Given the description of an element on the screen output the (x, y) to click on. 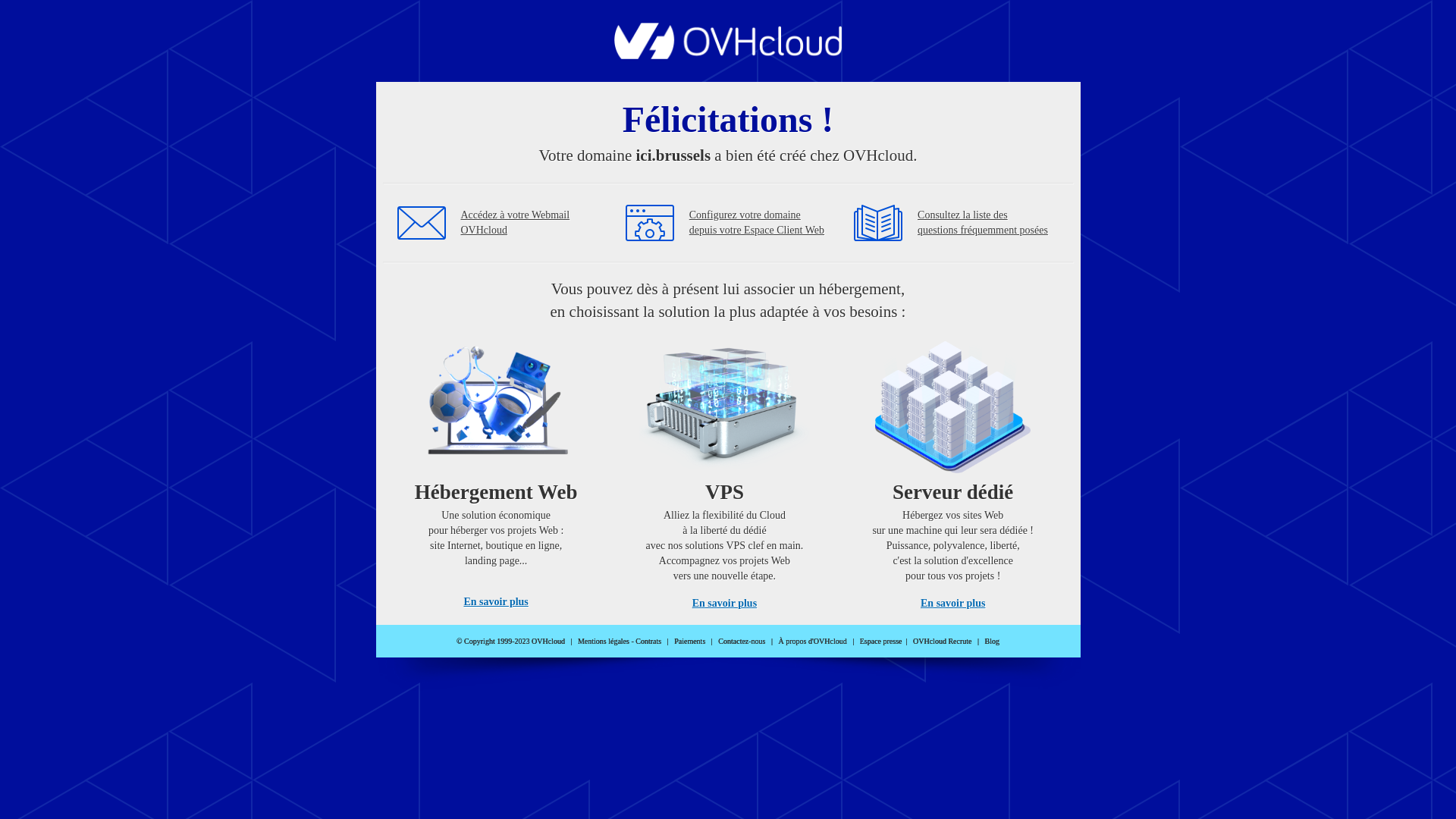
OVHcloud Recrute Element type: text (942, 641)
En savoir plus Element type: text (724, 602)
En savoir plus Element type: text (495, 601)
Paiements Element type: text (689, 641)
VPS Element type: hover (724, 469)
Espace presse Element type: text (880, 641)
OVHcloud Element type: hover (727, 54)
En savoir plus Element type: text (952, 602)
Blog Element type: text (992, 641)
Configurez votre domaine
depuis votre Espace Client Web Element type: text (756, 222)
Contactez-nous Element type: text (741, 641)
